Given the description of an element on the screen output the (x, y) to click on. 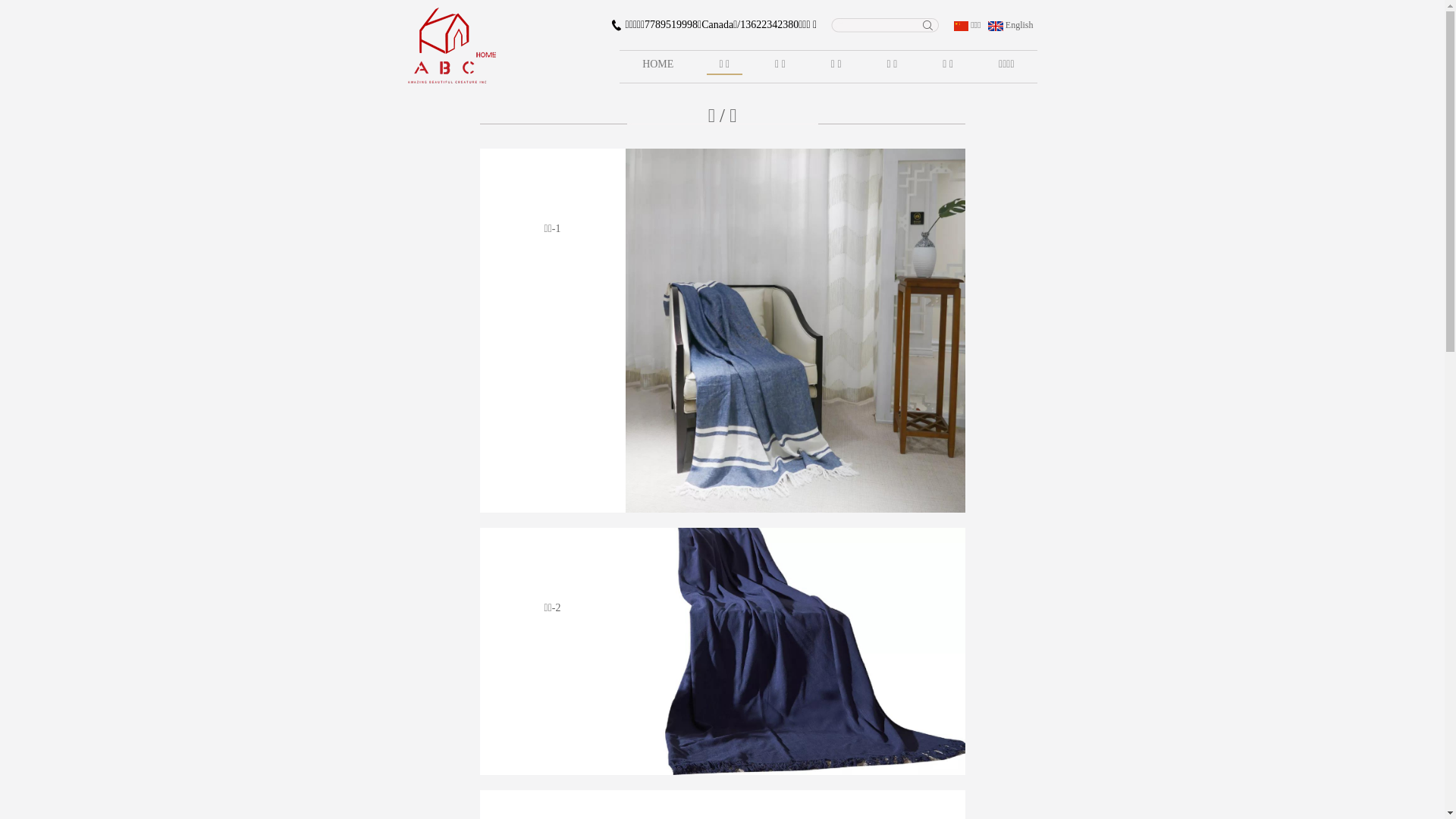
English Element type: text (1010, 24)
HOME Element type: text (657, 66)
